Given the description of an element on the screen output the (x, y) to click on. 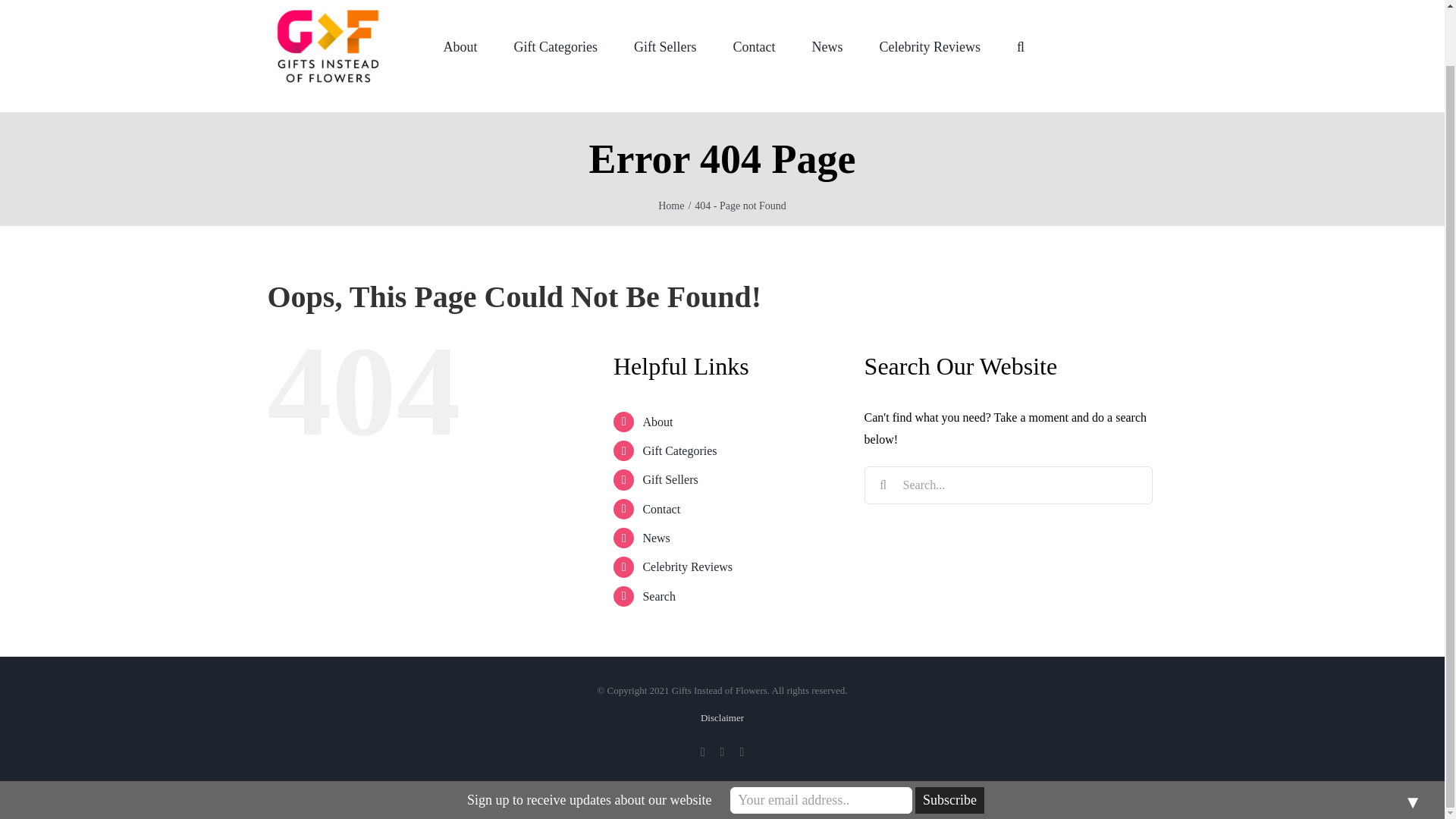
Gift Categories (554, 56)
Buy quality gifts from a choice of categories (679, 450)
Celebrity Reviews (928, 56)
Subscribe (949, 739)
Buy quality gifts from a choice of categories (554, 56)
Disclaimer (722, 717)
